Given the description of an element on the screen output the (x, y) to click on. 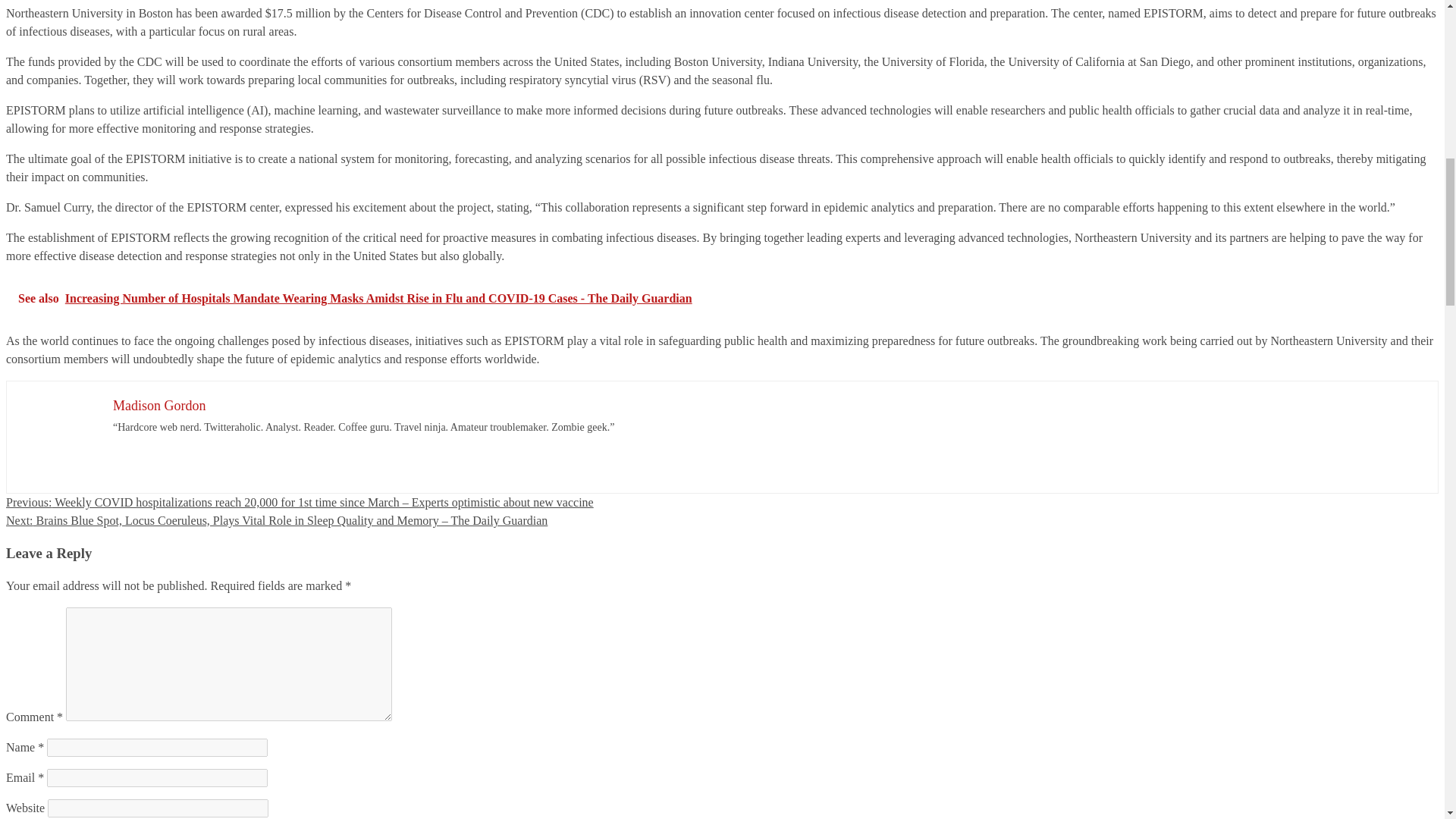
Madison Gordon (159, 405)
